Given the description of an element on the screen output the (x, y) to click on. 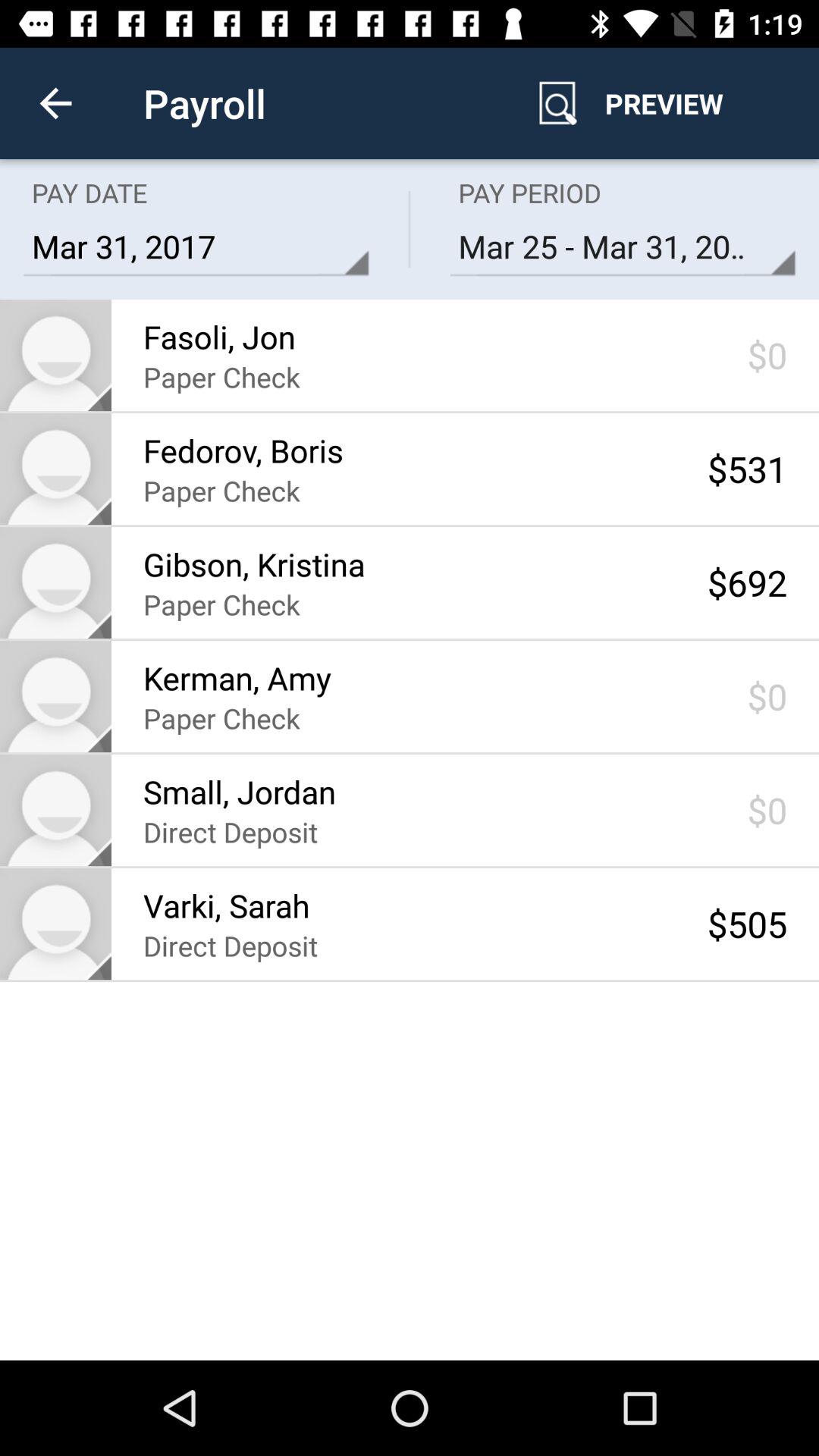
person (55, 355)
